Given the description of an element on the screen output the (x, y) to click on. 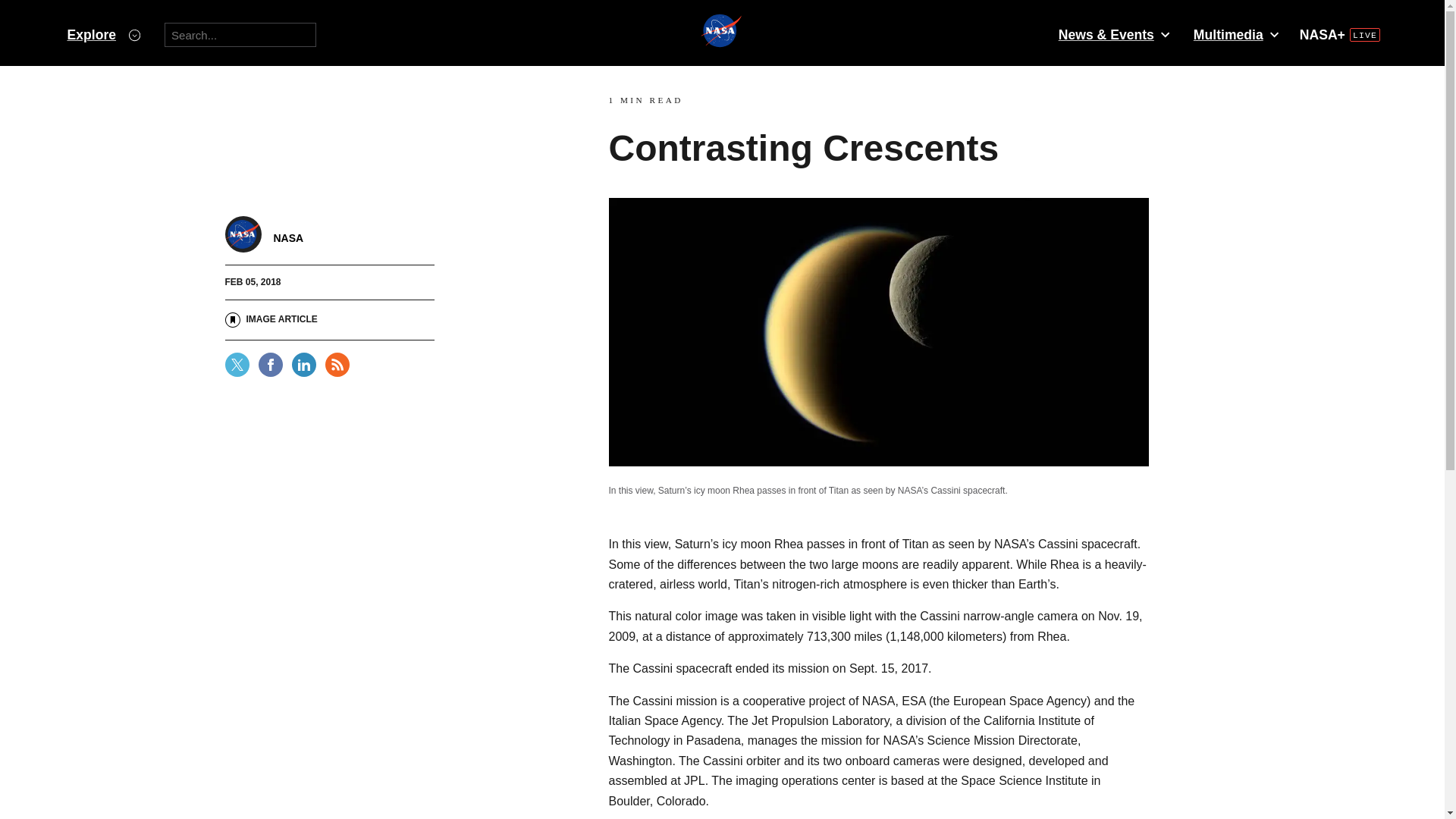
Explore (103, 35)
Multimedia (1235, 35)
